Given the description of an element on the screen output the (x, y) to click on. 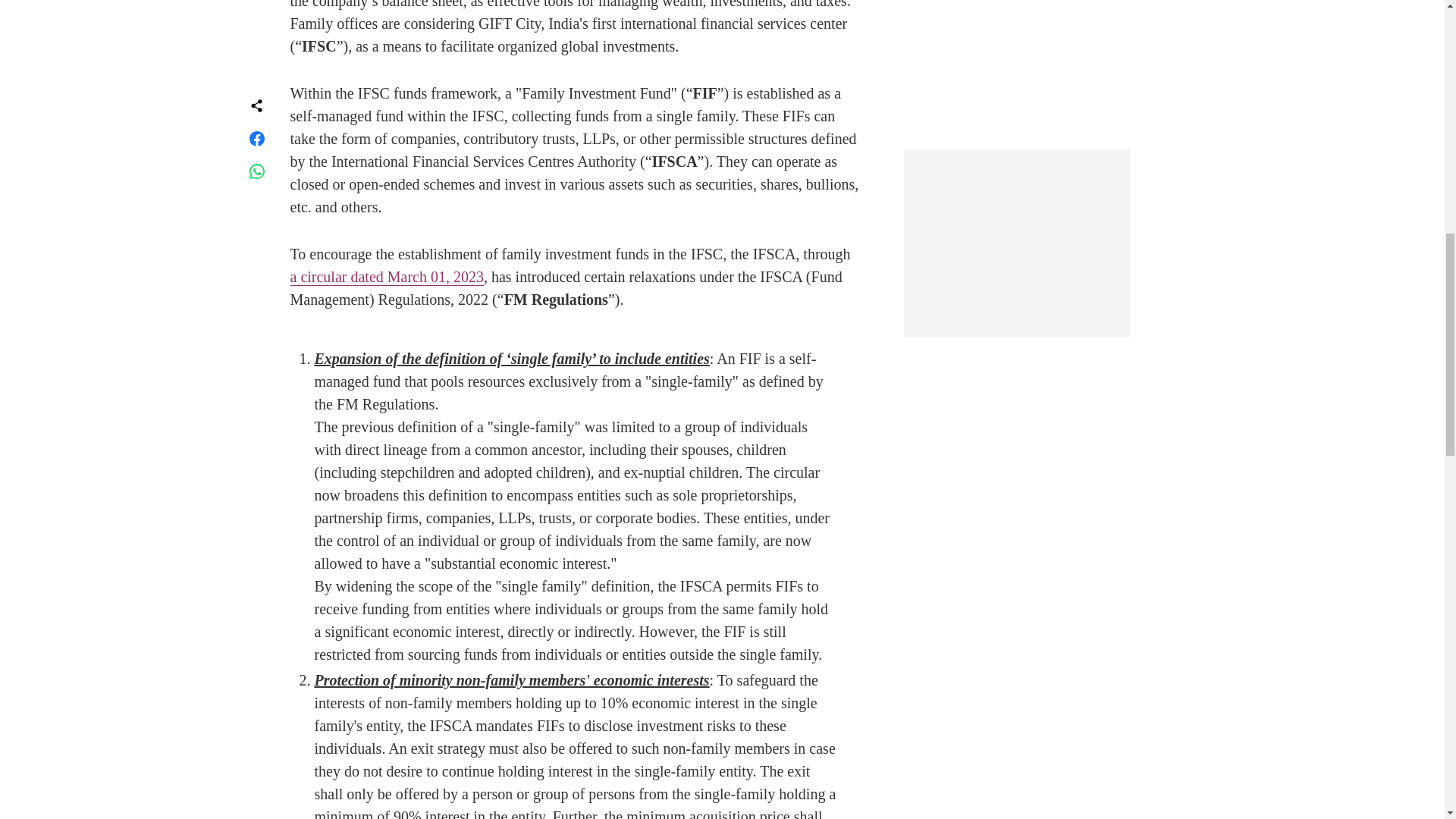
a circular dated March 01, 2023 (386, 276)
